Given the description of an element on the screen output the (x, y) to click on. 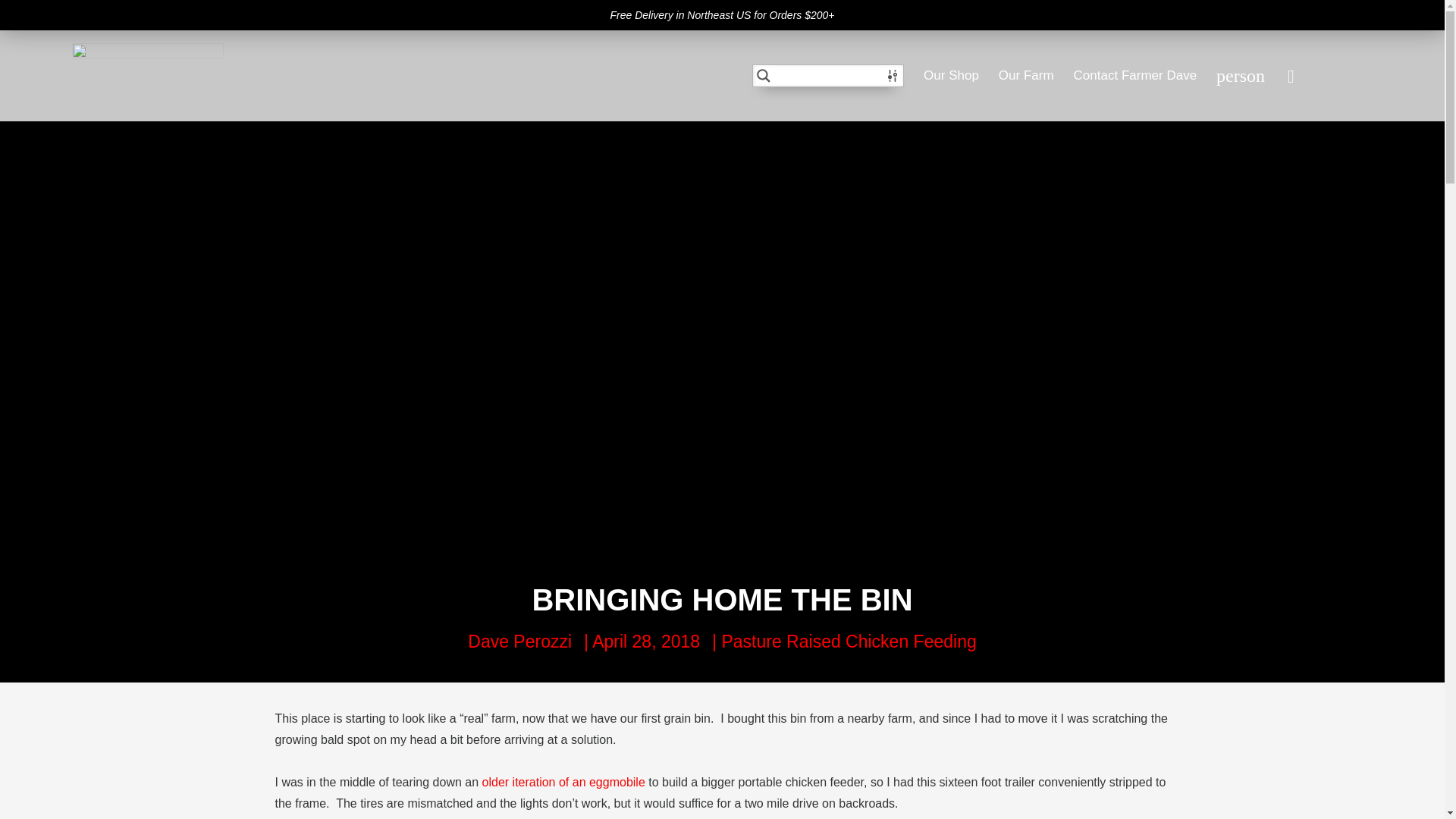
Our Farm (1026, 75)
Shopping Cart (1319, 74)
Our Shop (950, 75)
person (1240, 75)
Contact Farmer Dave (1135, 75)
